Given the description of an element on the screen output the (x, y) to click on. 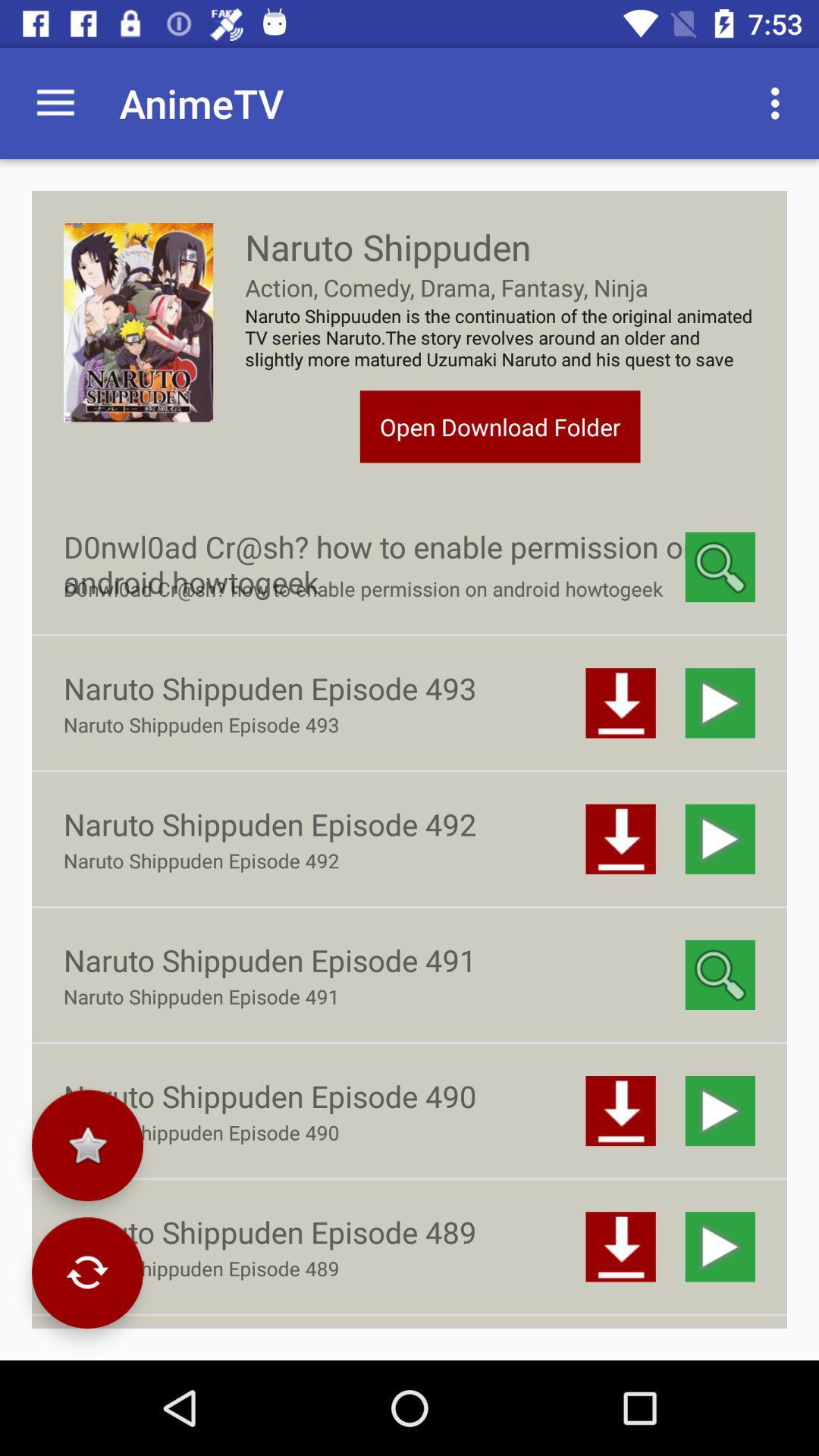
click the item at the top right corner (779, 103)
